Given the description of an element on the screen output the (x, y) to click on. 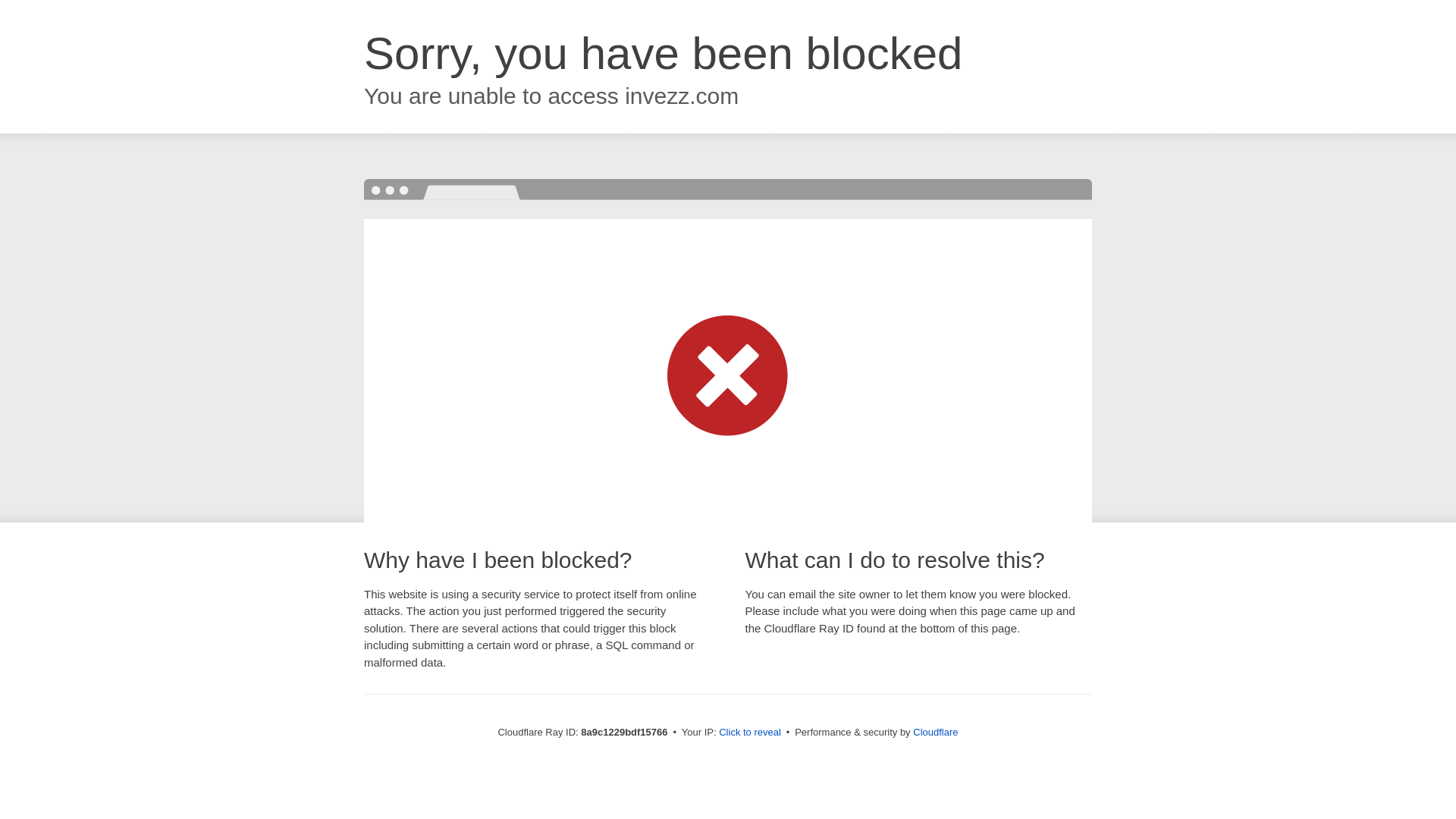
Click to reveal (749, 732)
Cloudflare (935, 731)
